Given the description of an element on the screen output the (x, y) to click on. 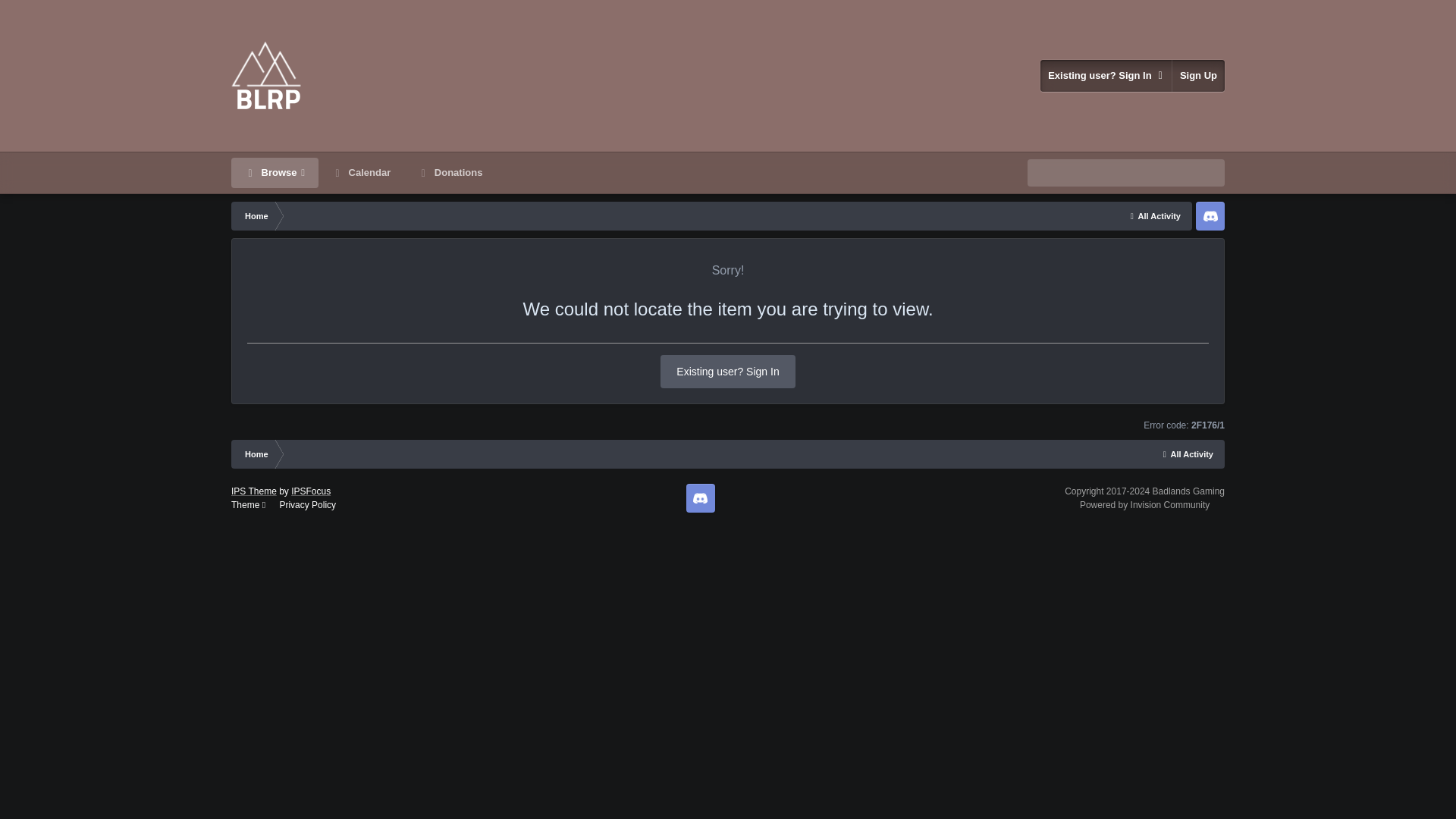
Privacy Policy (307, 504)
Invision Community (1144, 504)
Existing user? Sign In   (1106, 75)
Donations (450, 173)
Discord (699, 498)
Home (255, 215)
Home (255, 453)
Sign Up (1198, 75)
Calendar (361, 173)
Theme (247, 504)
